Given the description of an element on the screen output the (x, y) to click on. 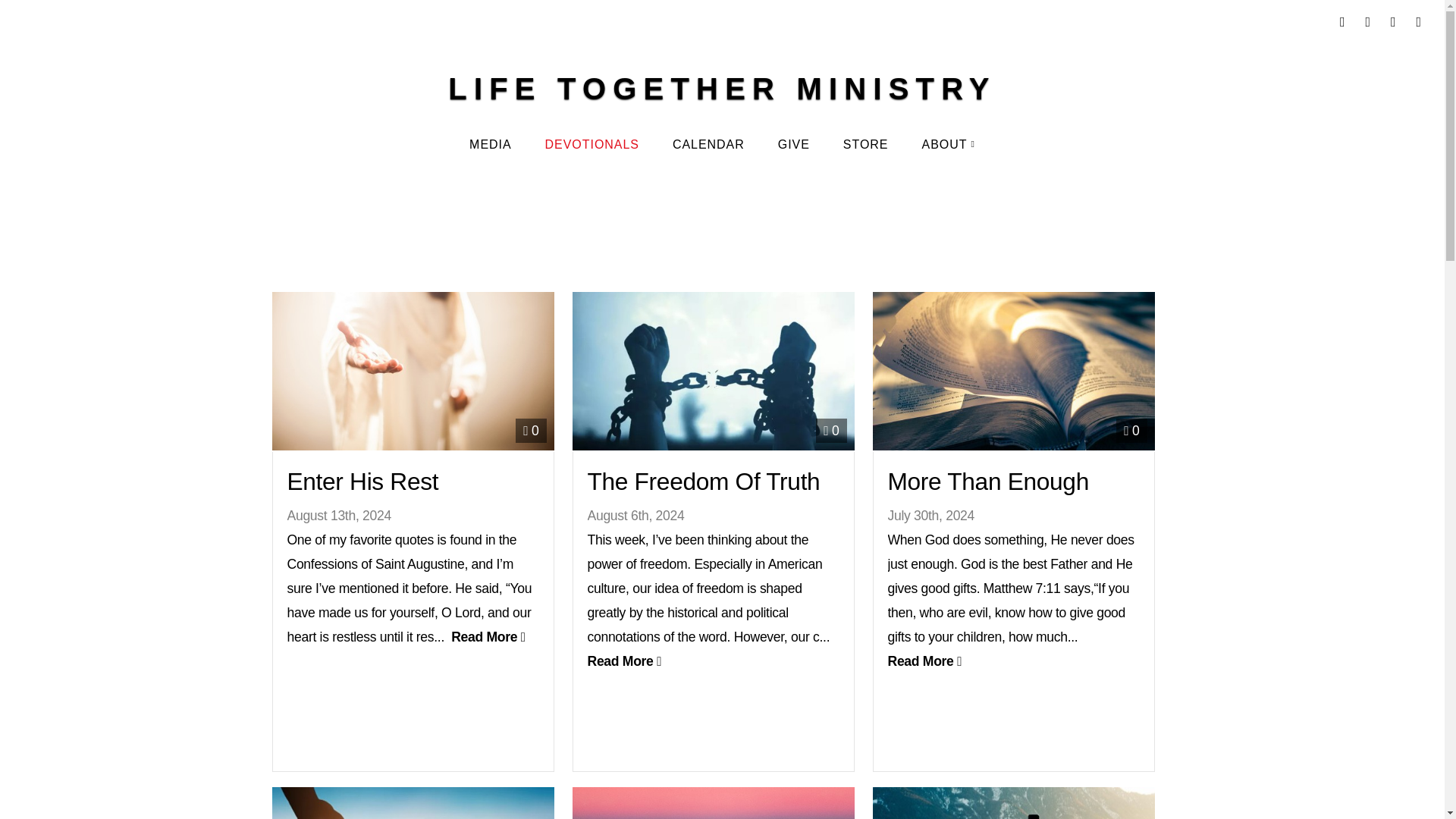
STORE (866, 144)
GIVE (793, 144)
MEDIA (489, 144)
LIFE TOGETHER MINISTRY (721, 87)
CALENDAR (709, 144)
ABOUT  (948, 144)
DEVOTIONALS (591, 144)
